Given the description of an element on the screen output the (x, y) to click on. 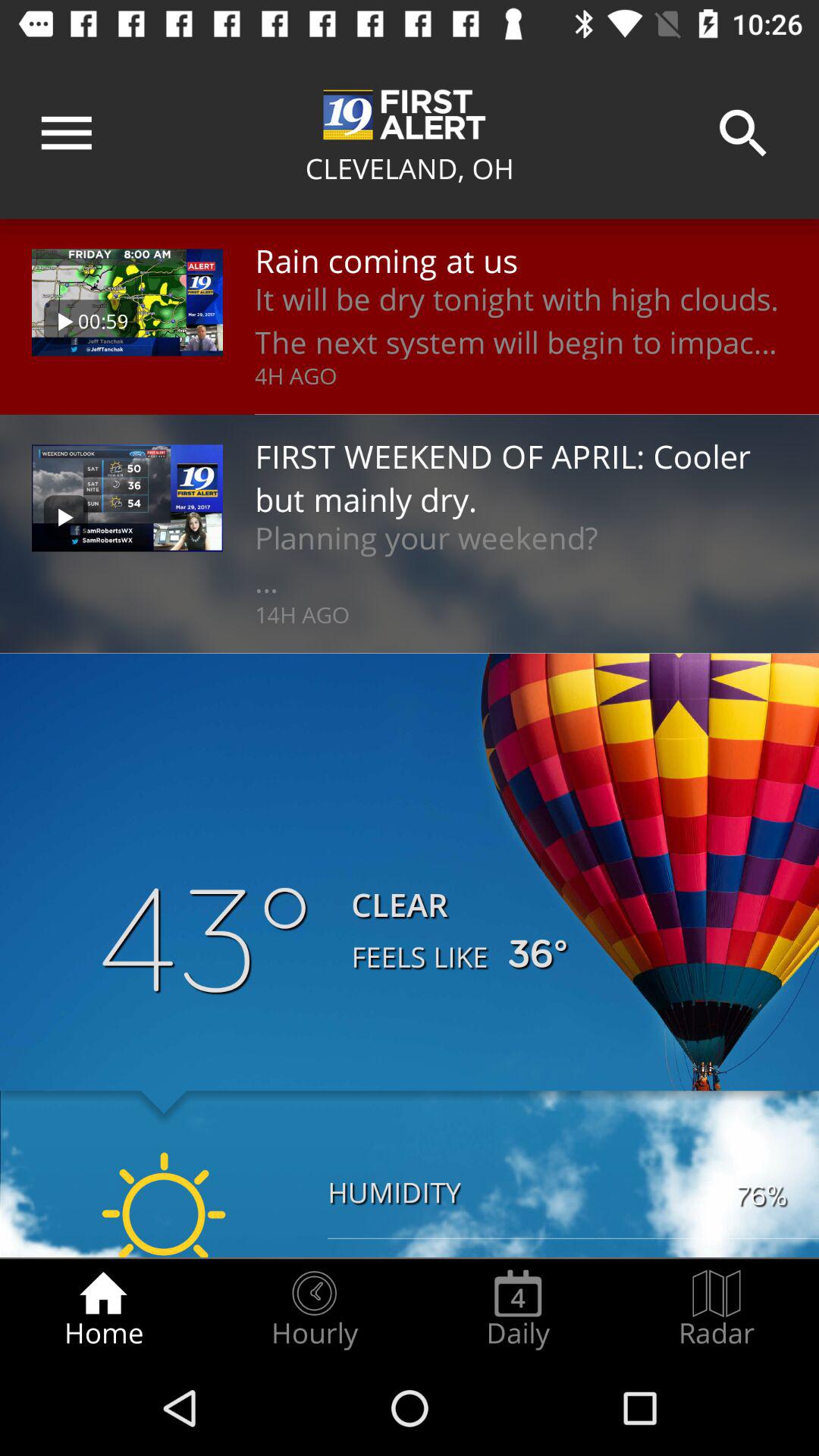
open icon next to daily icon (314, 1309)
